Given the description of an element on the screen output the (x, y) to click on. 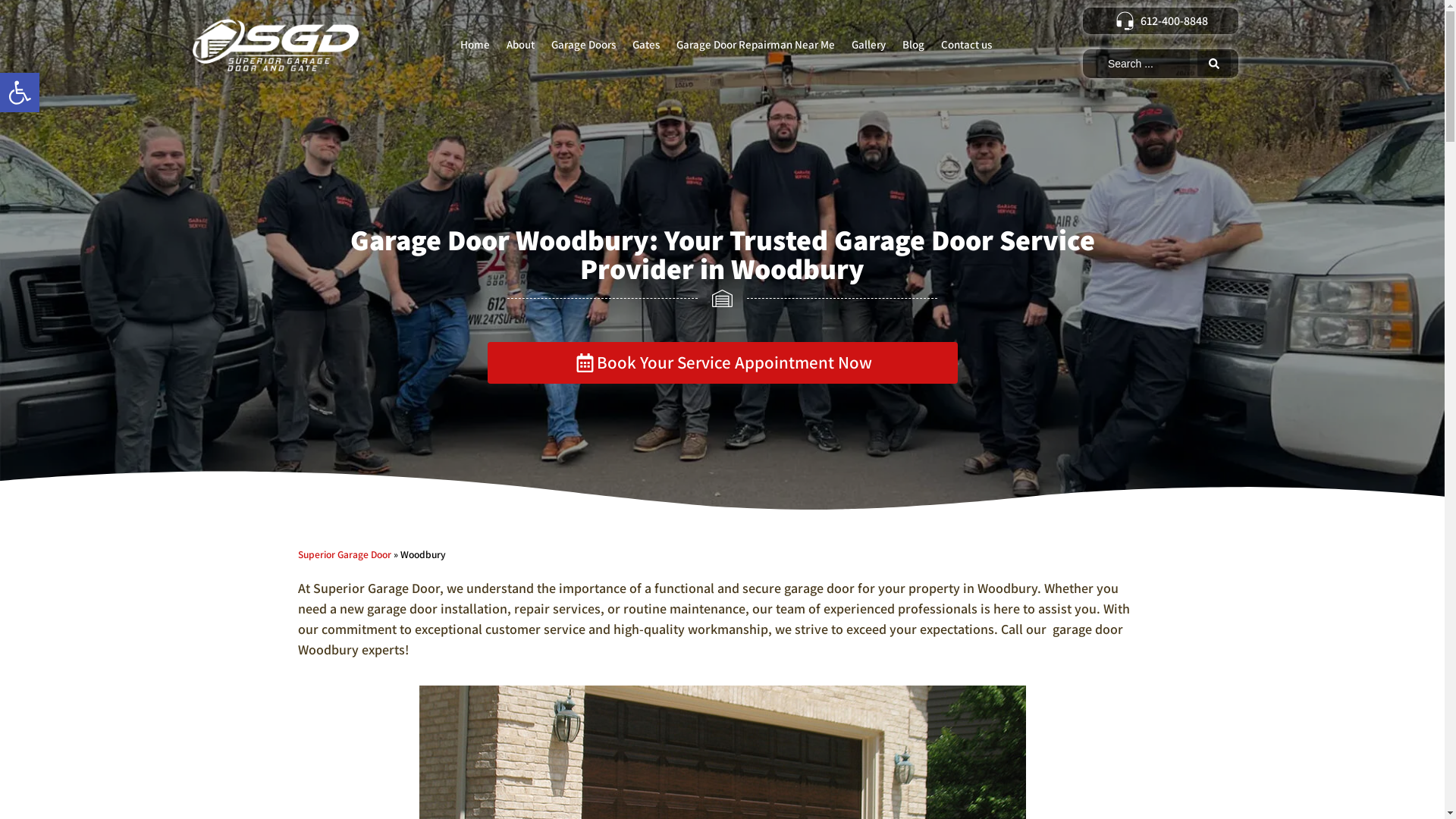
Contact us Element type: text (966, 44)
Gallery Element type: text (868, 44)
Book Your Service Appointment Now Element type: text (721, 362)
About Element type: text (520, 44)
Home Element type: text (474, 44)
612-400-8848 Element type: text (1160, 20)
Garage Door Repairman Near Me Element type: text (755, 44)
Blog Element type: text (913, 44)
Garage Doors Element type: text (583, 44)
Superior Garage Door Element type: text (343, 554)
Gates Element type: text (645, 44)
Open toolbar
Accessibility Tools Element type: text (19, 92)
